Given the description of an element on the screen output the (x, y) to click on. 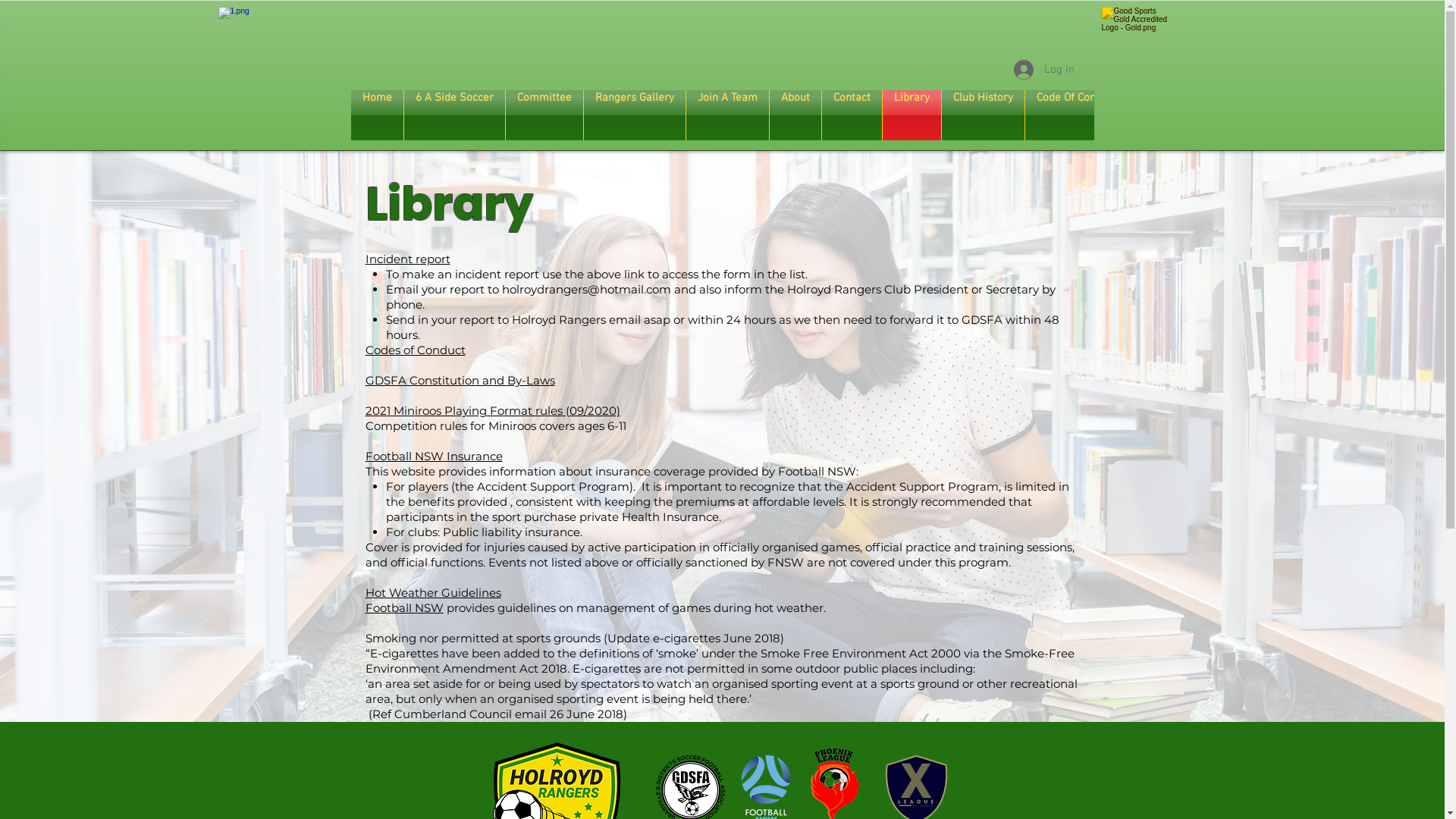
Library Element type: text (911, 115)
Contact Element type: text (851, 115)
Football NSW Insurance Element type: text (433, 455)
Log In Element type: text (1043, 69)
Incident report Element type: text (407, 258)
6 A Side Soccer Element type: text (453, 115)
About Element type: text (794, 115)
Codes of Conduct Element type: text (415, 349)
Committee Element type: text (543, 115)
2021 Miniroos Playing Format rules (09/2020) Element type: text (492, 410)
Join A Team Element type: text (726, 115)
Home Element type: text (376, 115)
GDSFA Constitution and By-Laws Element type: text (460, 380)
Code Of Conduct Element type: text (1076, 115)
Club History Element type: text (982, 115)
Rangers Gallery Element type: text (634, 115)
holroydrangers@hotmail.com Element type: text (586, 289)
Football NSW Element type: text (404, 607)
